Given the description of an element on the screen output the (x, y) to click on. 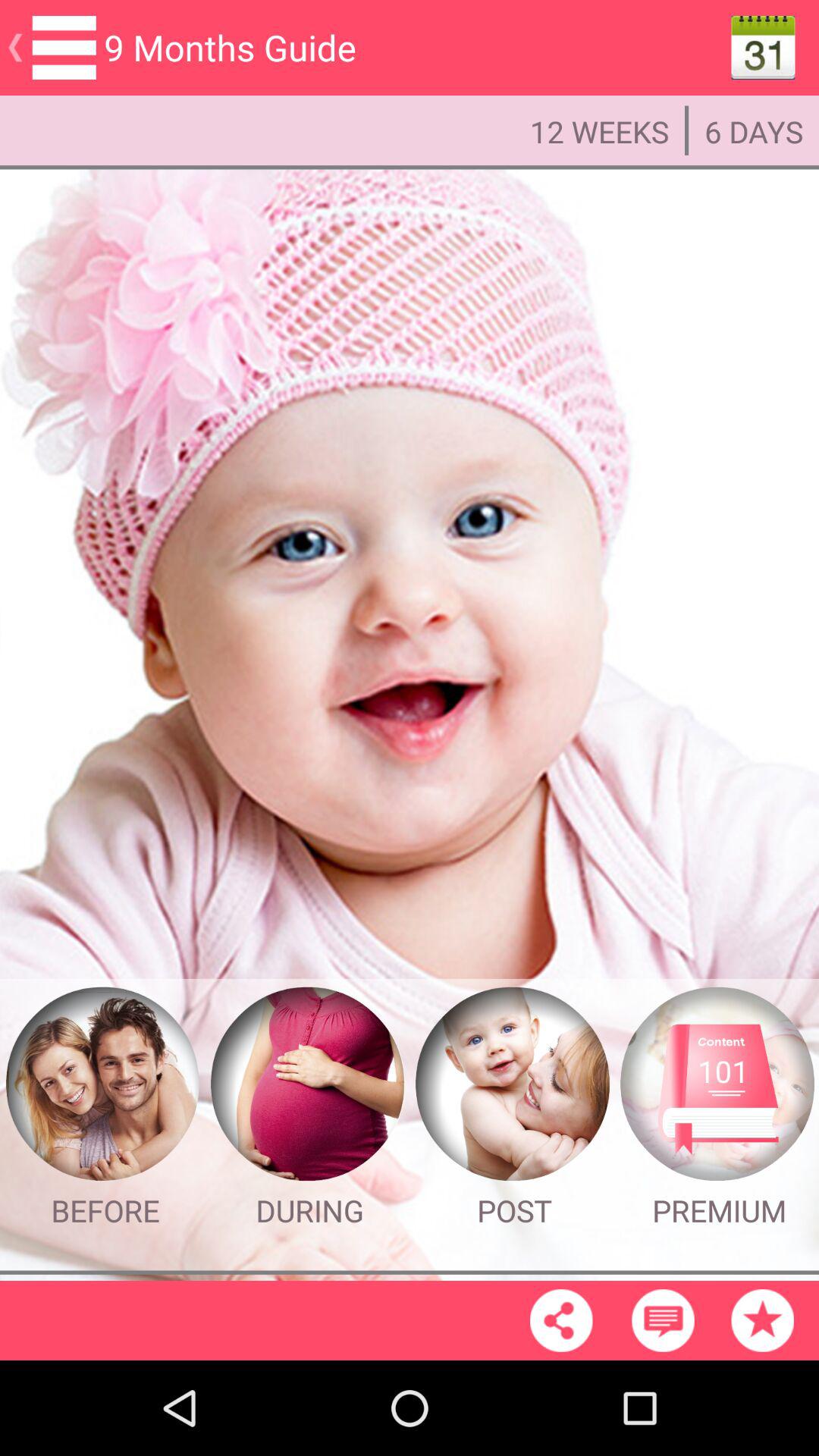
go to the during page (306, 1084)
